Given the description of an element on the screen output the (x, y) to click on. 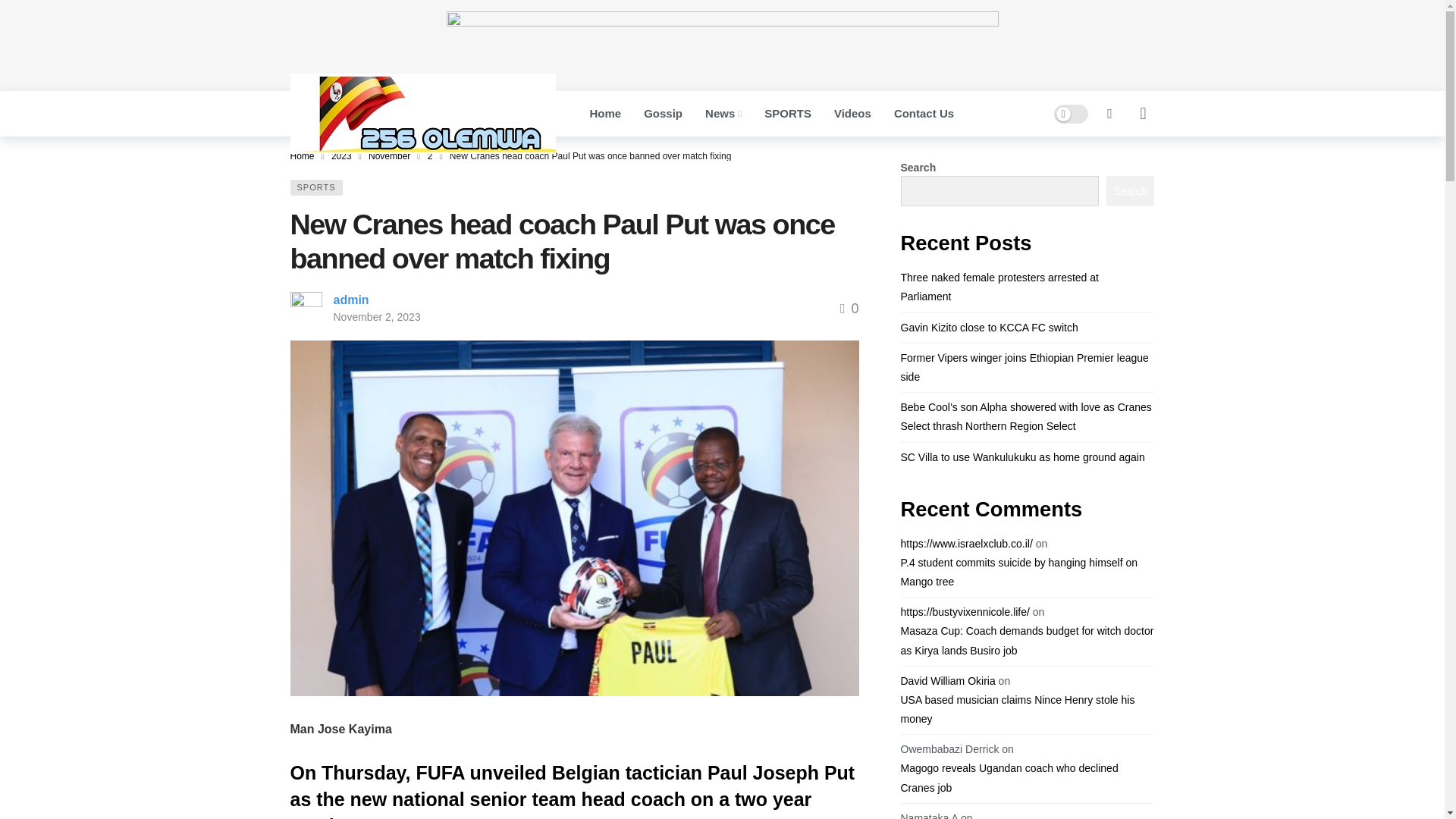
SPORTS (787, 113)
admin (351, 299)
News (723, 113)
November 2, 2023 (376, 316)
Home (604, 113)
Gossip (662, 113)
SPORTS (315, 187)
2023 (341, 155)
November (389, 155)
Contact Us (923, 113)
